Given the description of an element on the screen output the (x, y) to click on. 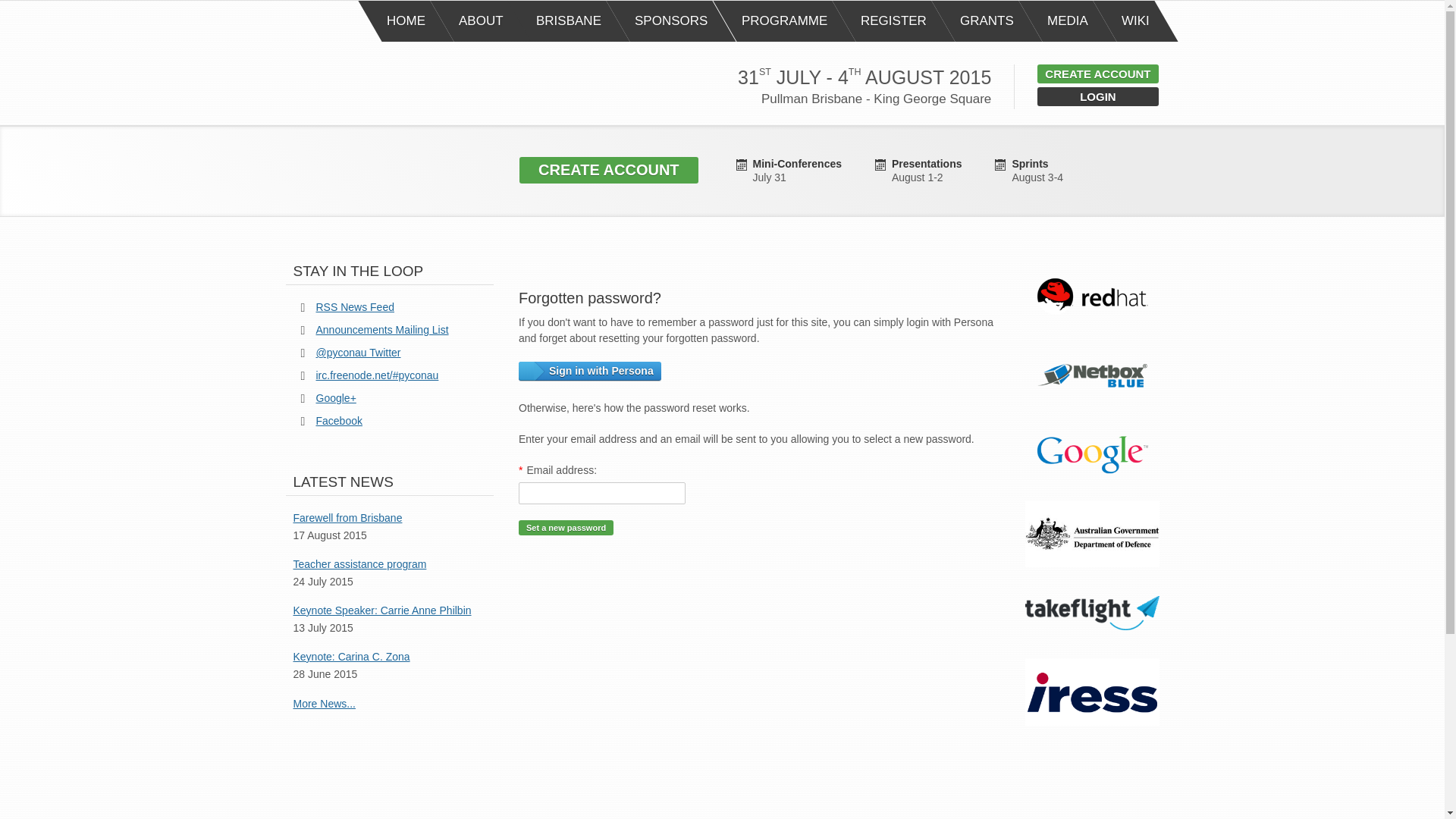
More News... (323, 703)
Facebook (338, 420)
WIKI (1135, 20)
MEDIA (1067, 20)
BRISBANE (568, 20)
ABOUT (480, 20)
RSS News Feed (354, 306)
Keynote: Carina C. Zona (350, 658)
Set a new password (565, 527)
Set a new password (565, 527)
